Given the description of an element on the screen output the (x, y) to click on. 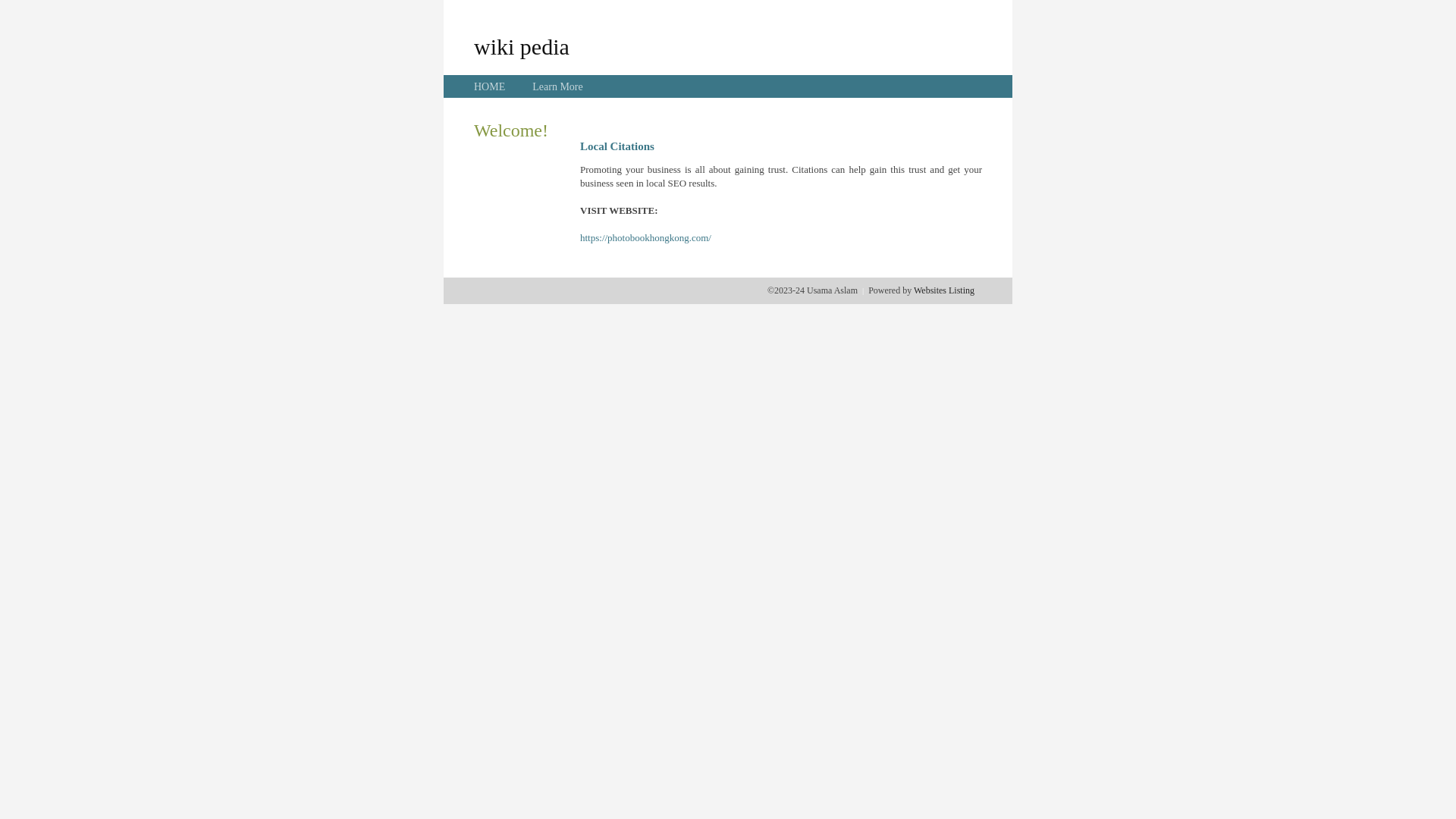
Websites Listing Element type: text (943, 290)
wiki pedia Element type: text (521, 46)
HOME Element type: text (489, 86)
Learn More Element type: text (557, 86)
https://photobookhongkong.com/ Element type: text (645, 237)
